Given the description of an element on the screen output the (x, y) to click on. 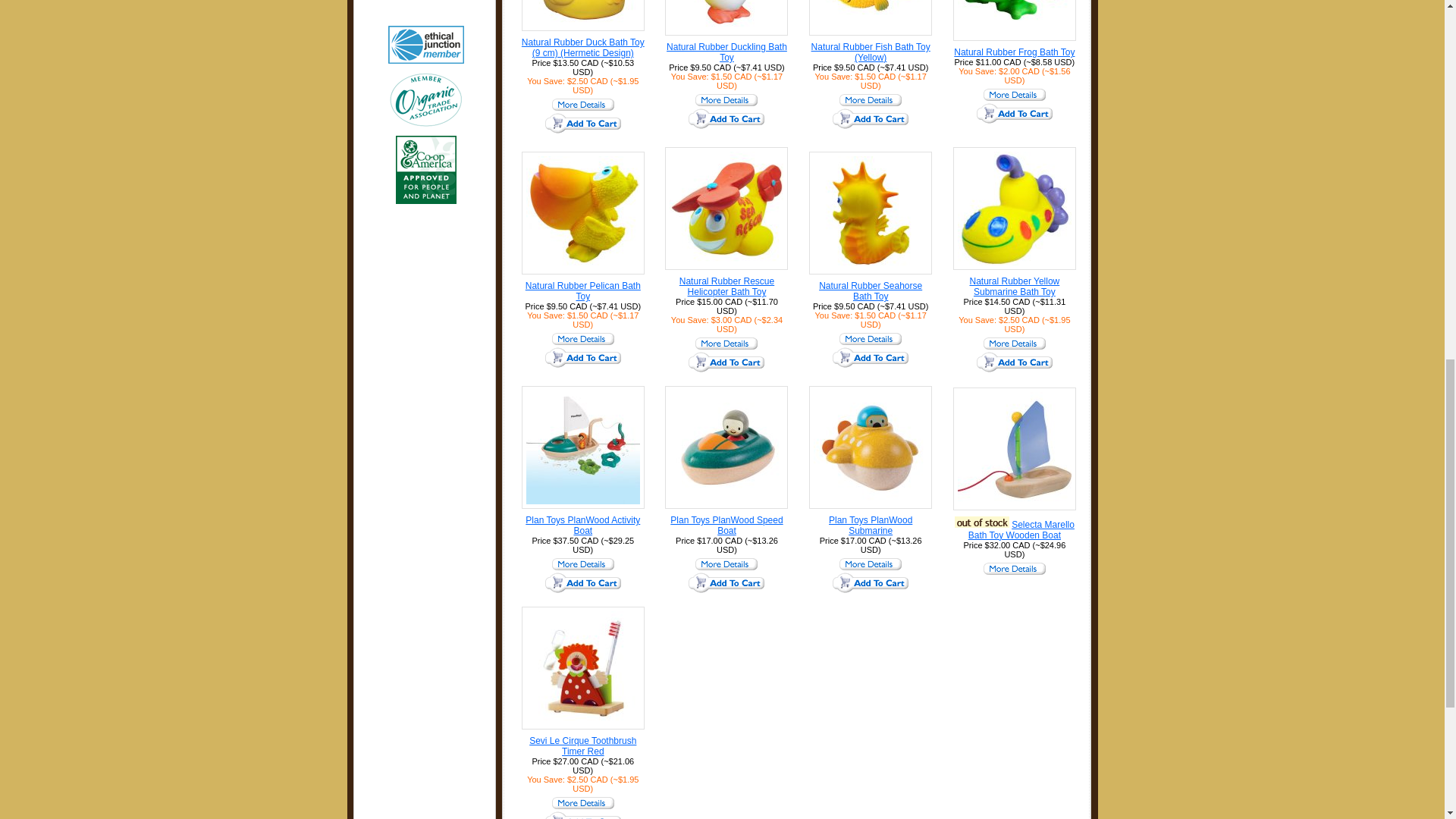
Ethical Junction Network Member (427, 44)
Co-op America's Green Business Seal of Approval (427, 169)
